Given the description of an element on the screen output the (x, y) to click on. 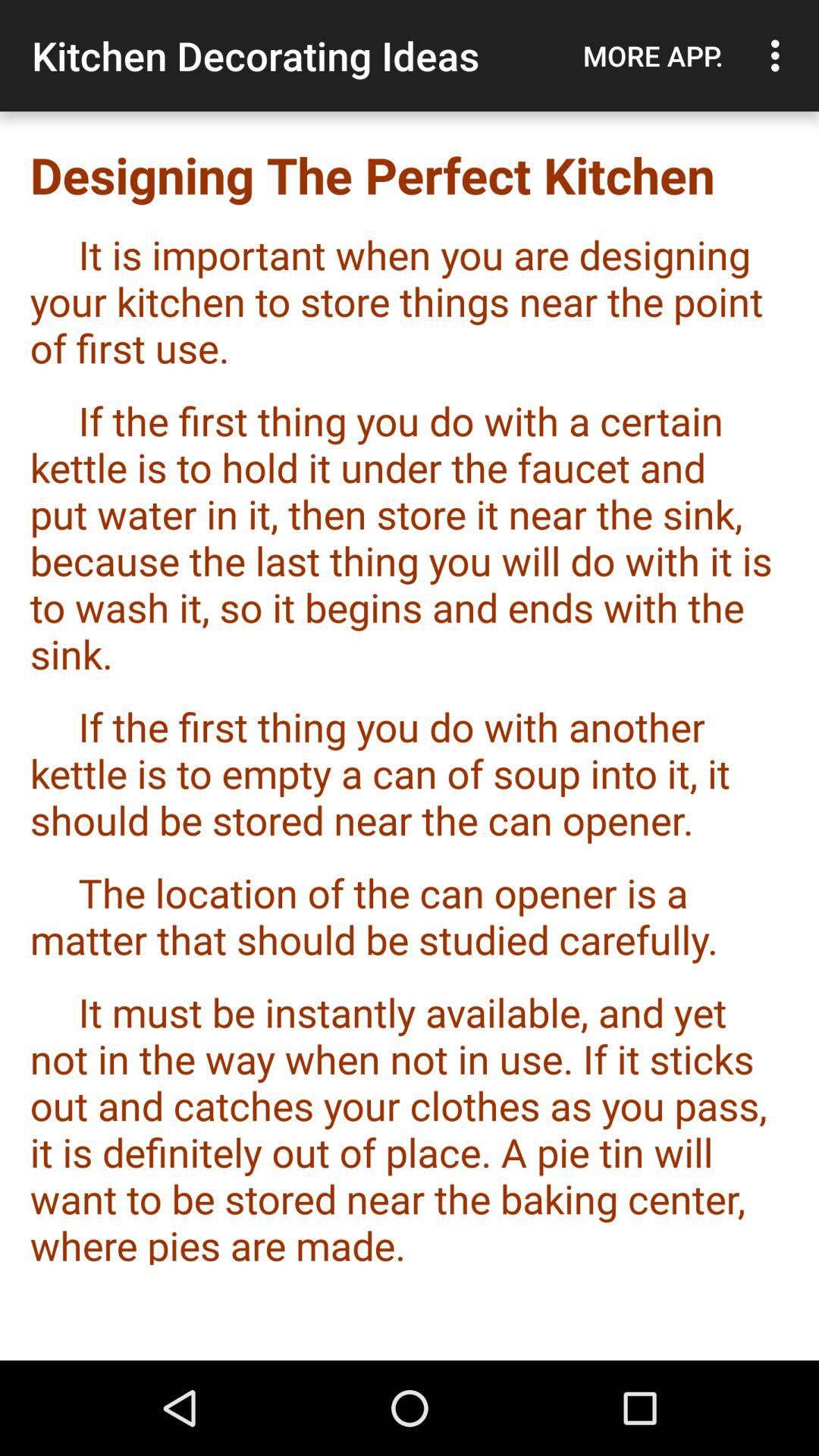
flip to more app. icon (653, 55)
